Given the description of an element on the screen output the (x, y) to click on. 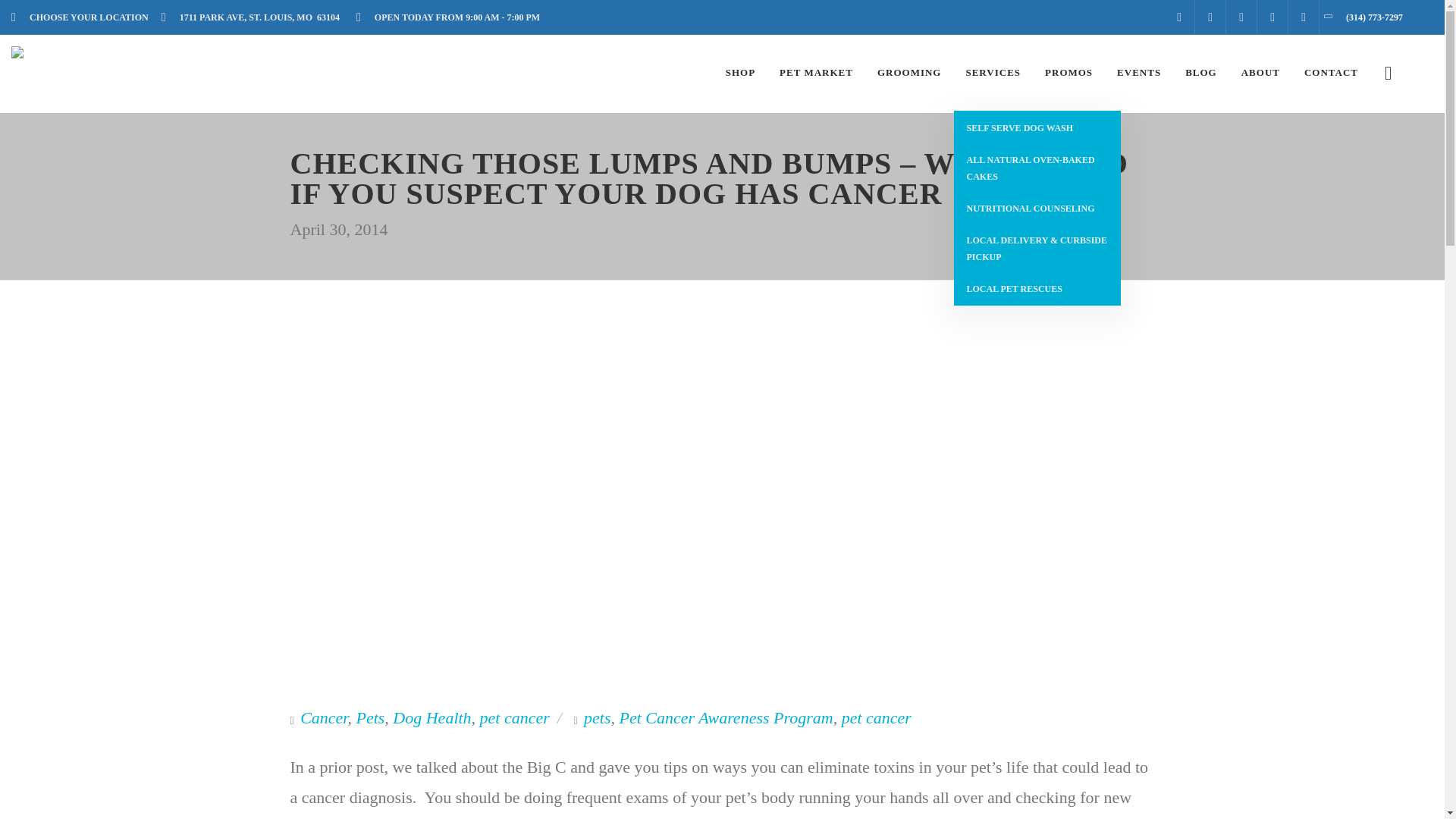
GROOMING (909, 72)
Four Muddy Paws Pet Market Near St. Louis (816, 72)
NUTRITIONAL COUNSELING (1037, 208)
LOCAL PET RESCUES (1037, 288)
SERVICES (992, 72)
Four Muddy Paws Grooming Near St. Louis (909, 72)
OPEN TODAY FROM 9:00 AM - 7:00 PM (452, 16)
Four Muddy Paws Services Near St. Louis (992, 72)
Four Muddy Paws Self Serve Dog Wash Near St. Louis (1037, 128)
ALL NATURAL OVEN-BAKED CAKES (1037, 168)
SELF SERVE DOG WASH (1037, 128)
1711 PARK AVE, ST. LOUIS, MO  63104 (254, 16)
PET MARKET (816, 72)
PROMOS (1068, 72)
